Given the description of an element on the screen output the (x, y) to click on. 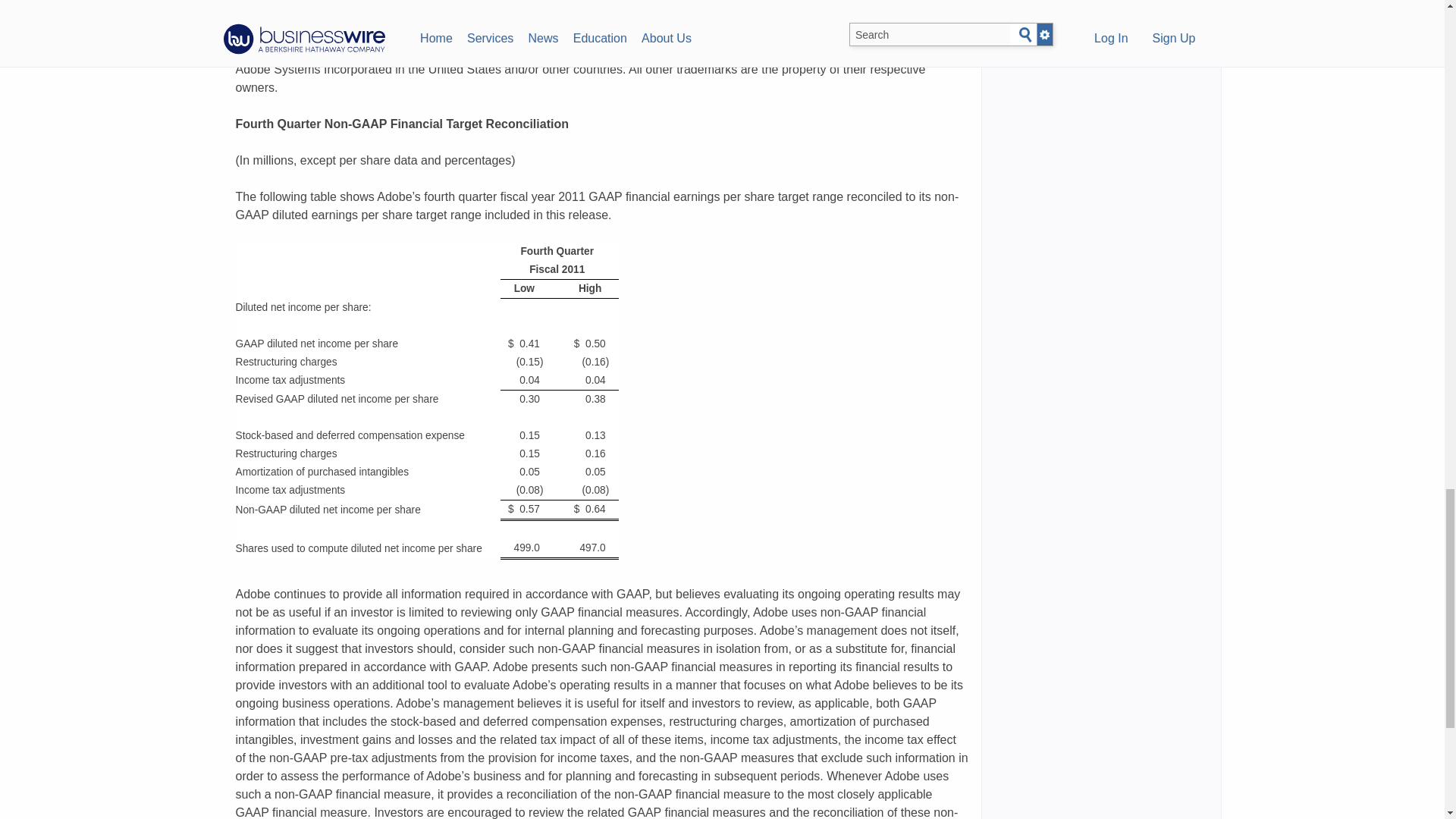
www.adobe.com (729, 14)
